Given the description of an element on the screen output the (x, y) to click on. 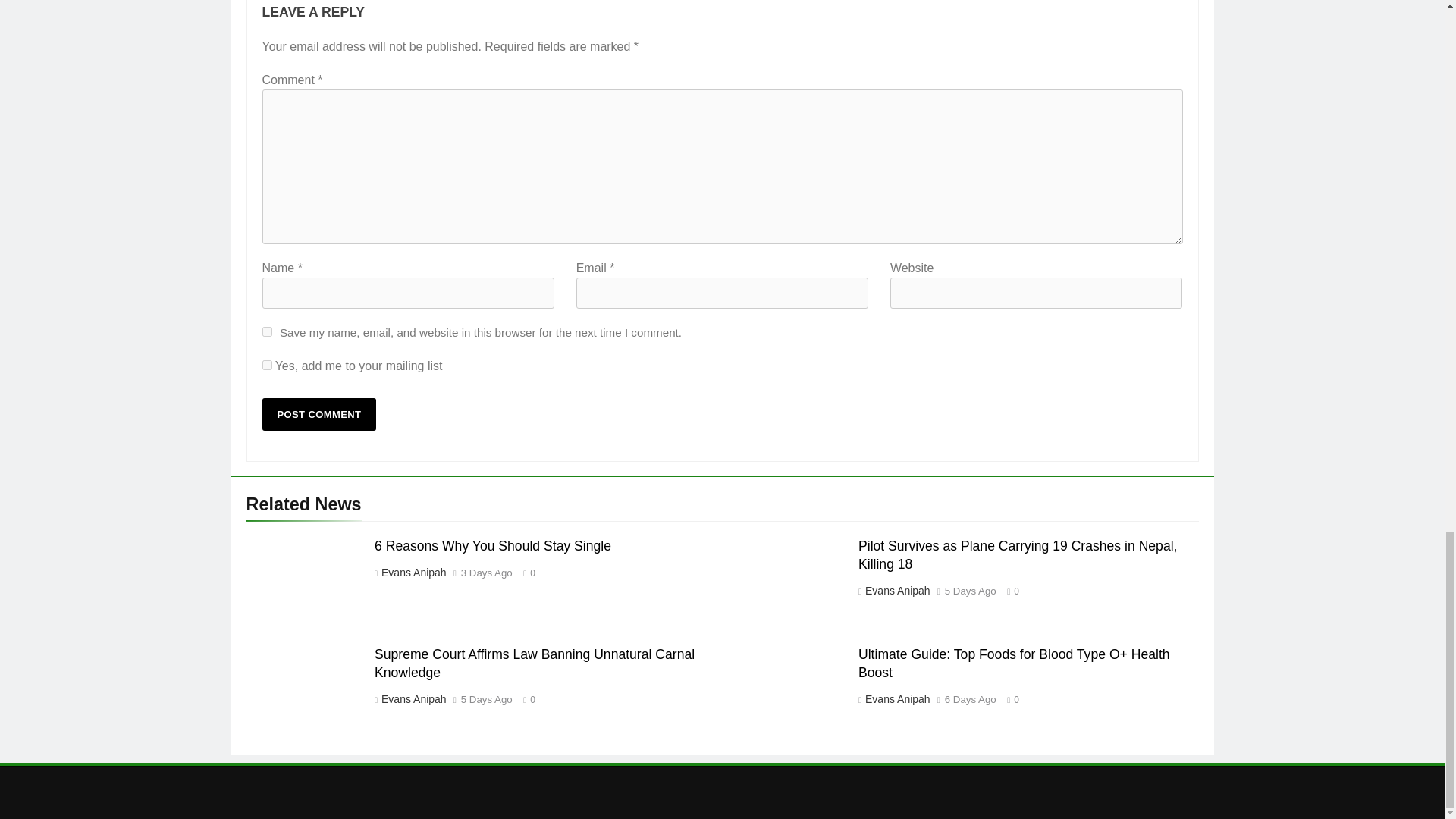
Post Comment (319, 414)
Post Comment (319, 414)
1 (267, 365)
yes (267, 331)
